Given the description of an element on the screen output the (x, y) to click on. 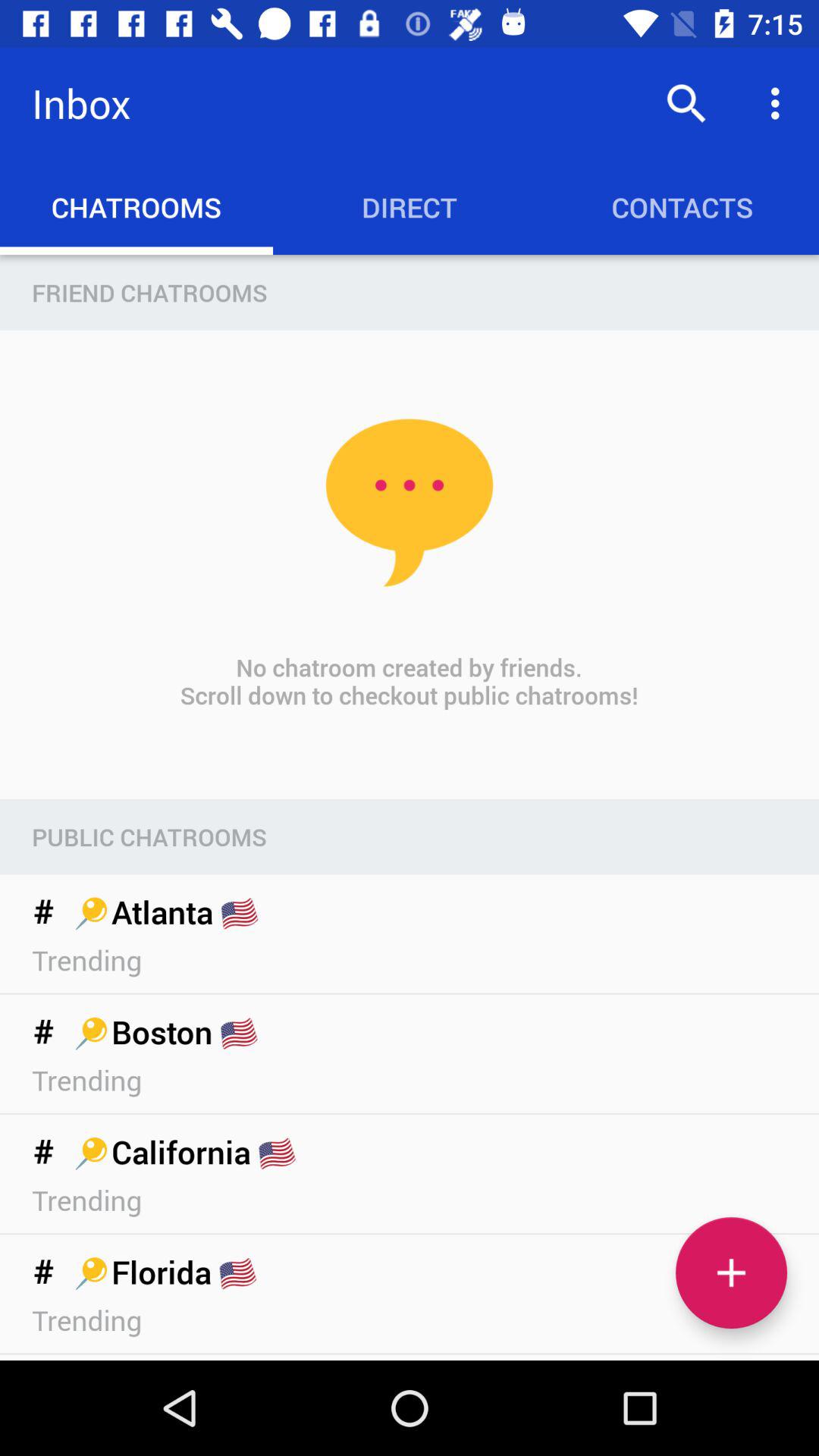
open the icon below the trending (731, 1272)
